Given the description of an element on the screen output the (x, y) to click on. 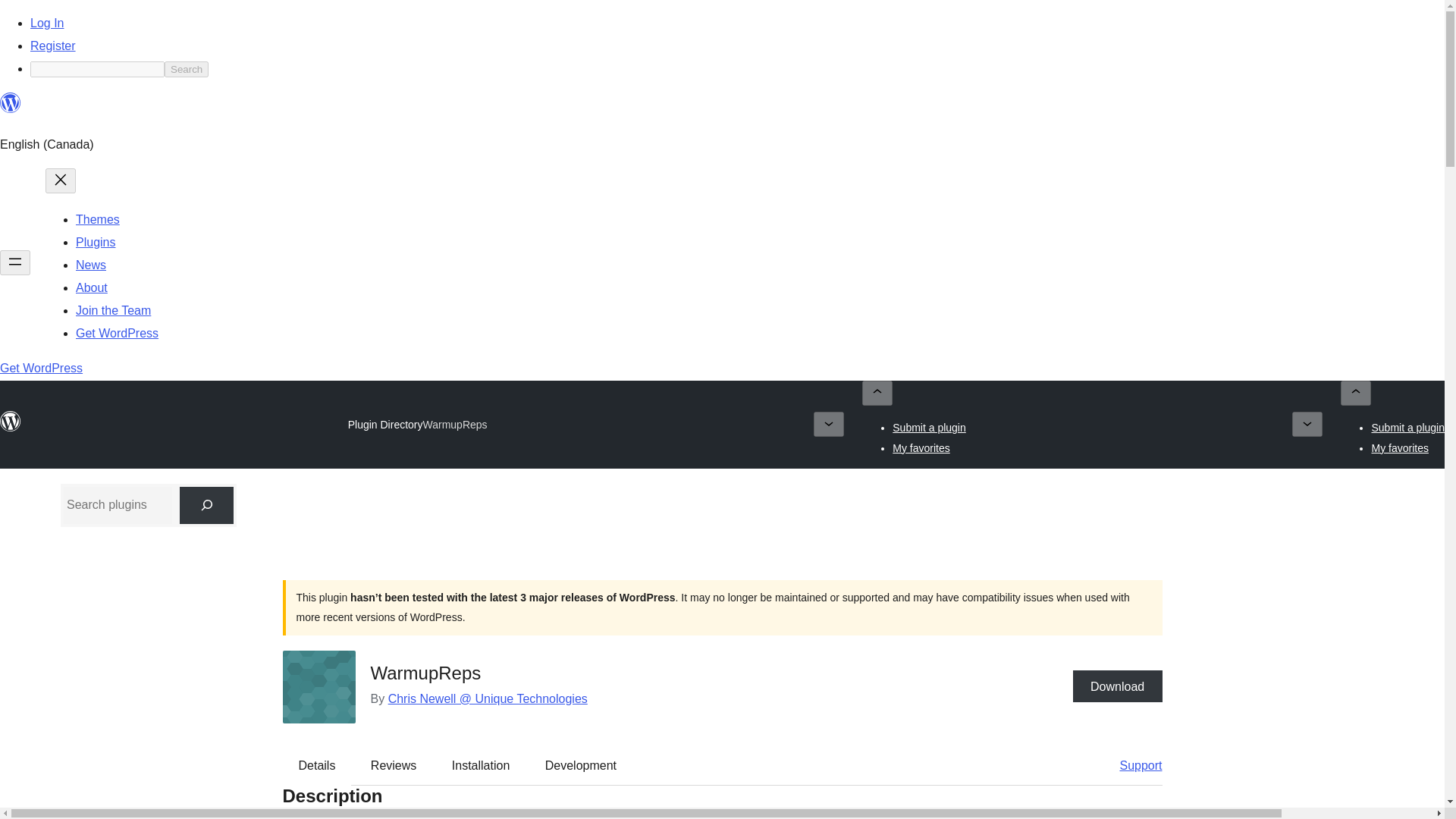
Join the Team (113, 309)
About (91, 287)
Submit a plugin (1407, 427)
My favorites (920, 447)
News (90, 264)
Search (186, 68)
Register (52, 45)
Download (1117, 685)
WarmupReps (455, 424)
Search (186, 68)
Get WordPress (41, 367)
Details (316, 765)
Support (1132, 765)
My favorites (1399, 447)
Installation (480, 765)
